Given the description of an element on the screen output the (x, y) to click on. 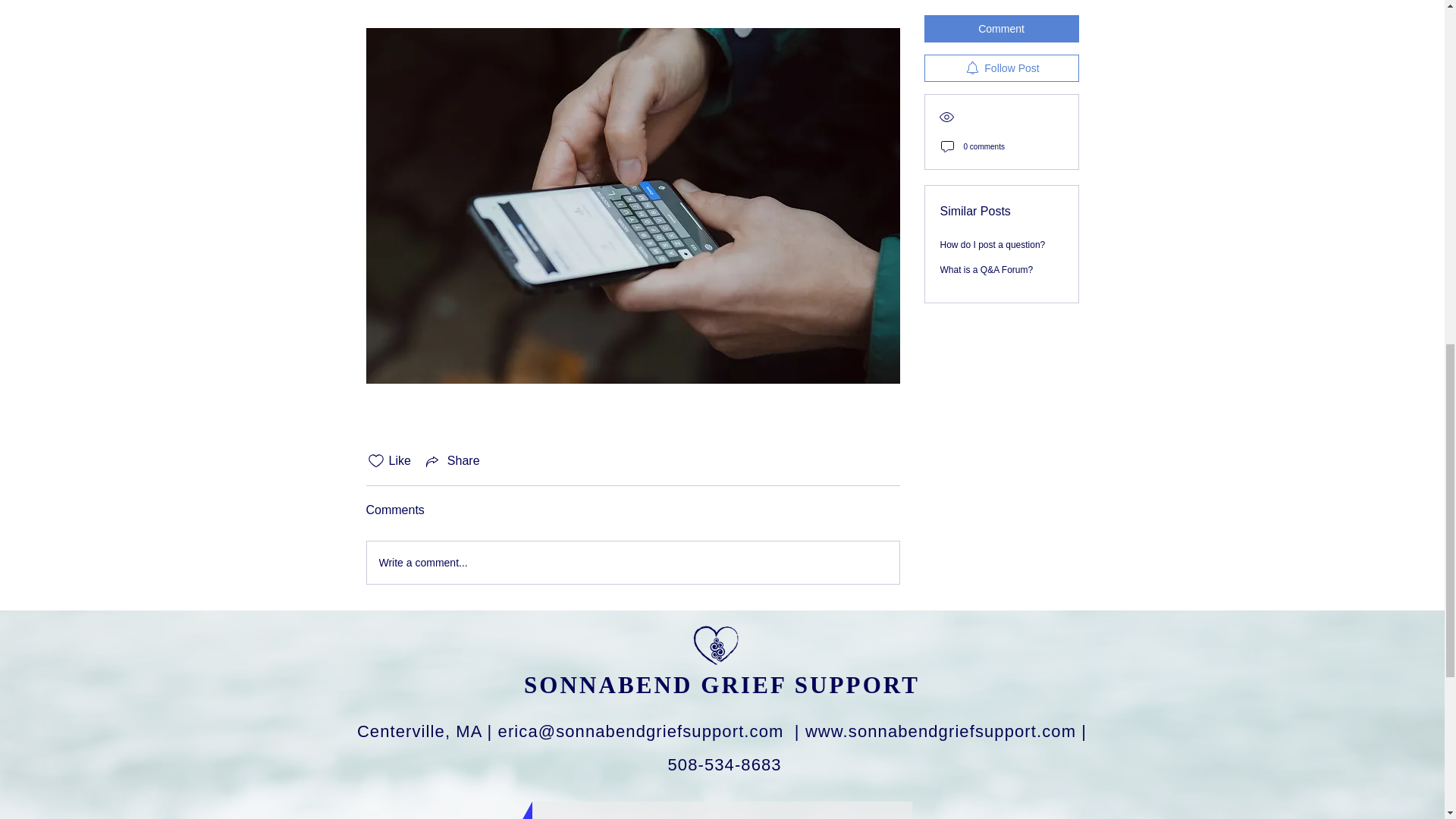
Write a comment... (632, 562)
Share (451, 461)
www.sonnabendgriefsupport.com (940, 731)
